Given the description of an element on the screen output the (x, y) to click on. 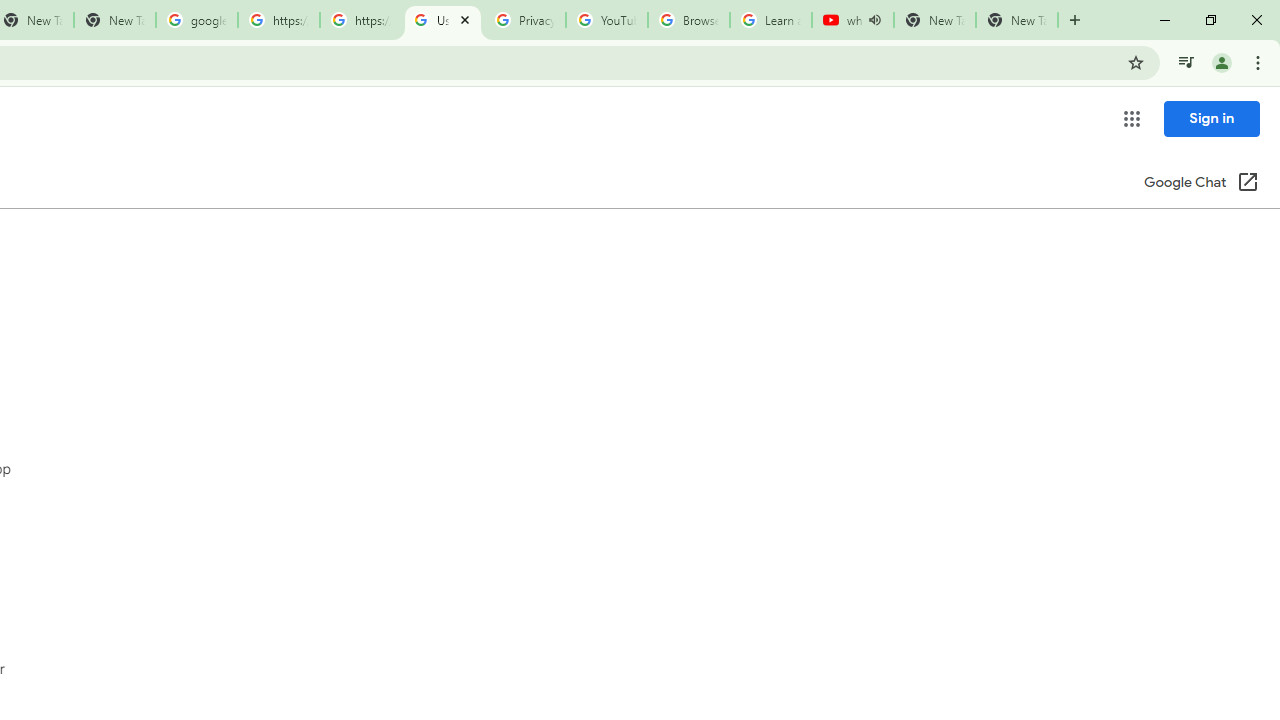
https://scholar.google.com/ (360, 20)
Browse Chrome as a guest - Computer - Google Chrome Help (688, 20)
https://scholar.google.com/ (278, 20)
Use Dark theme on Google Chat - Computer - Google Chat Help (442, 20)
